Given the description of an element on the screen output the (x, y) to click on. 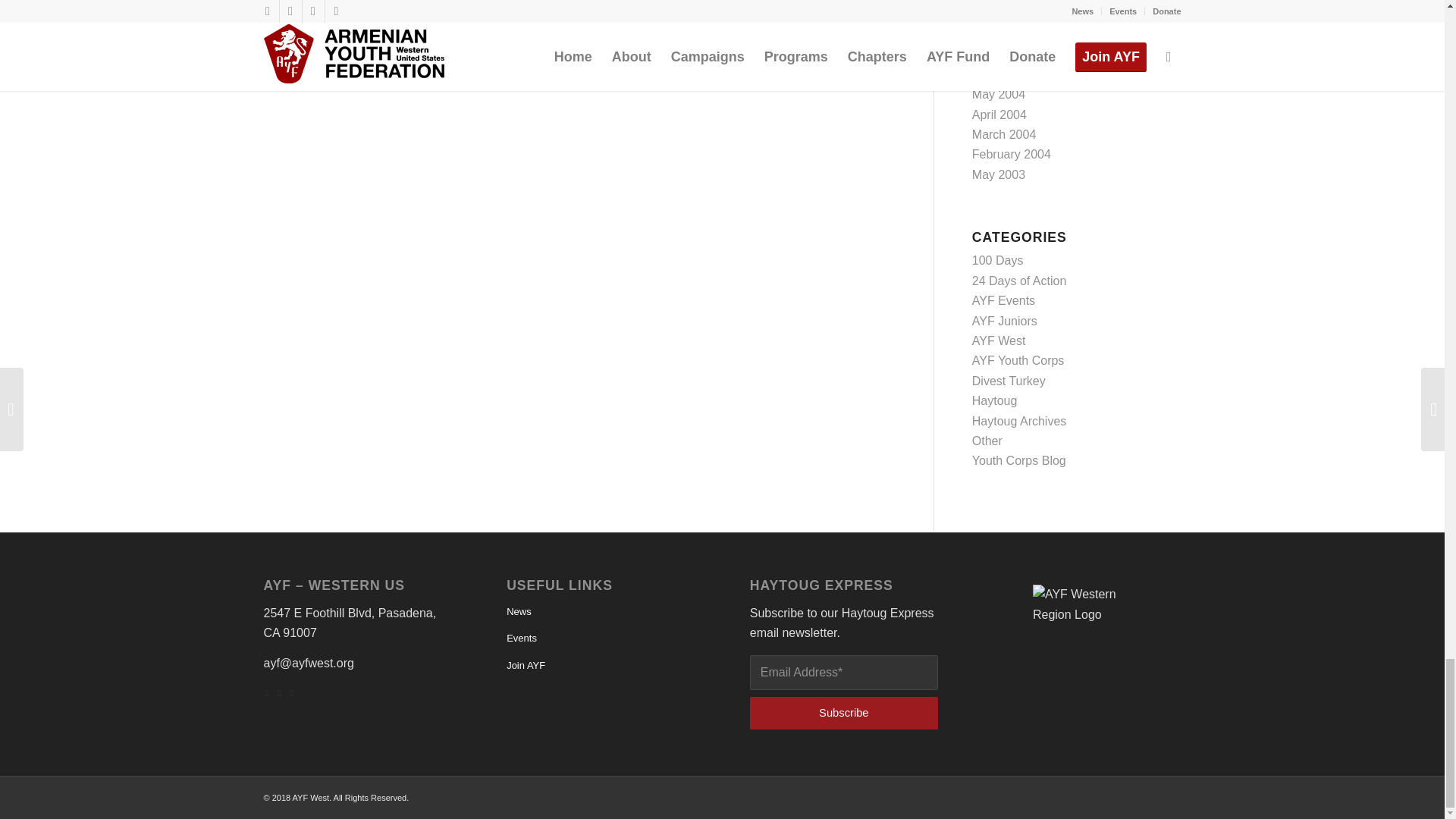
Subscribe (843, 712)
